Given the description of an element on the screen output the (x, y) to click on. 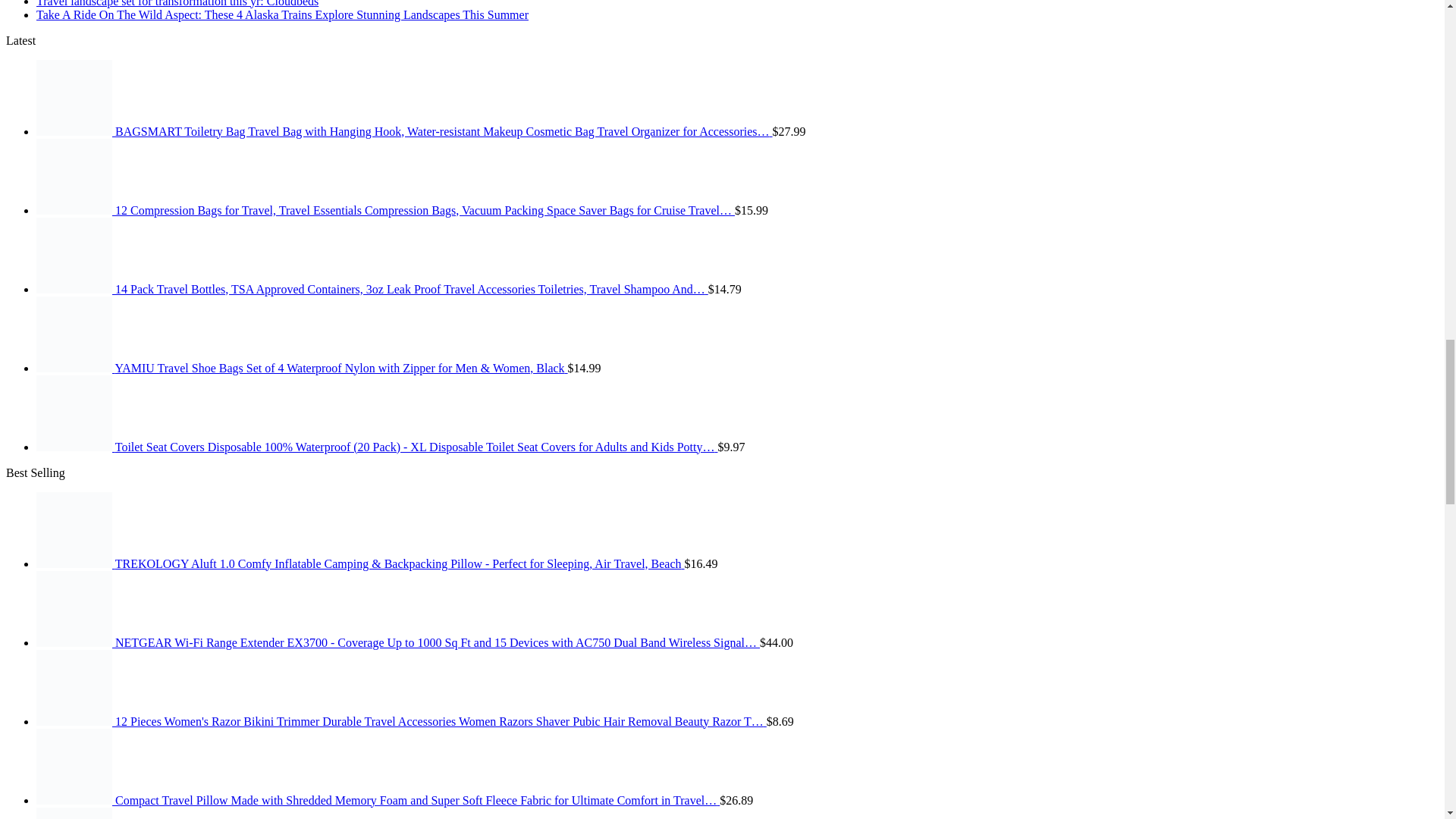
Travel landscape set for transformation this yr: Cloudbeds (177, 3)
